Given the description of an element on the screen output the (x, y) to click on. 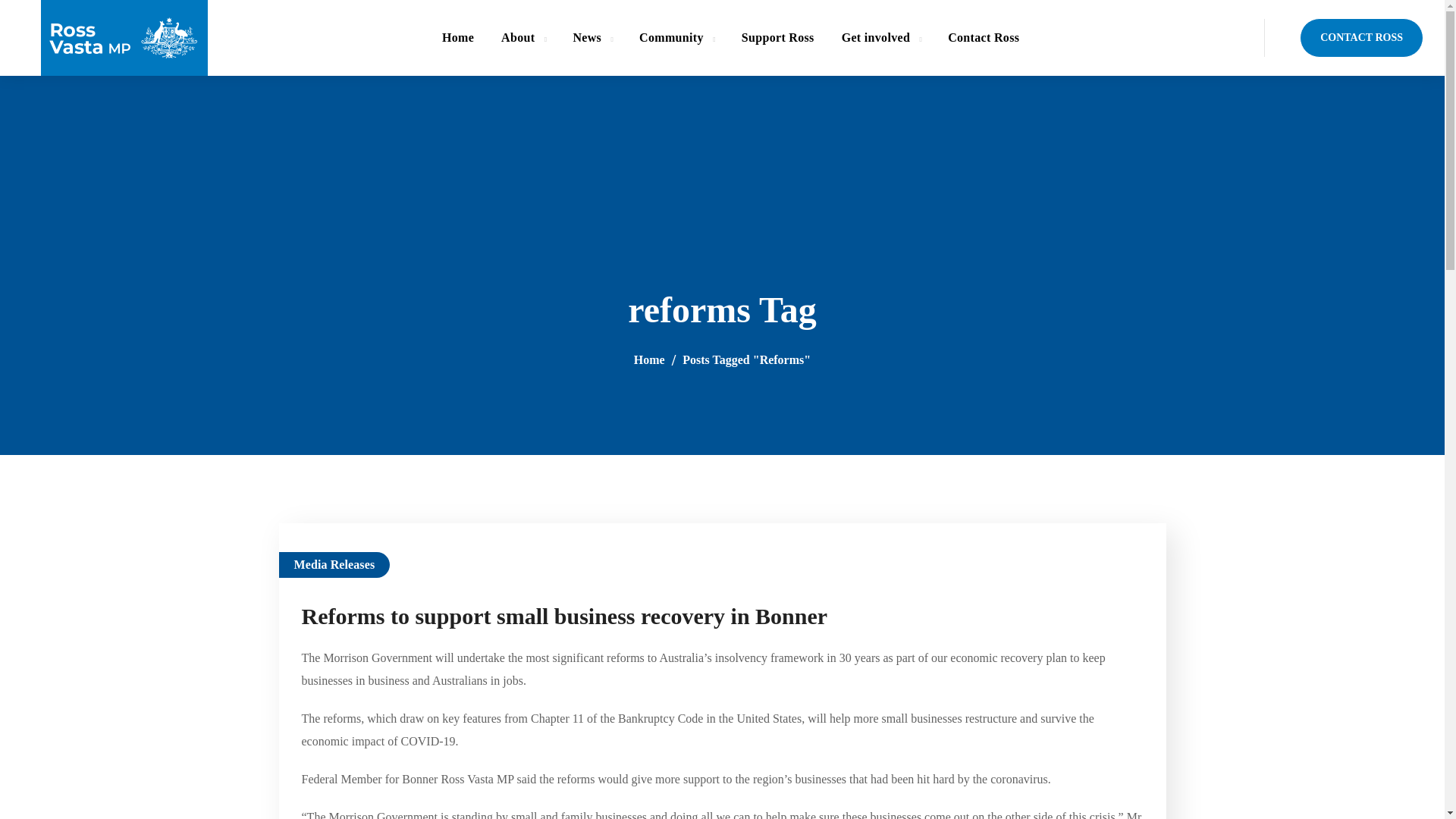
Contact Ross (983, 38)
CONTACT ROSS (1361, 37)
Community (677, 38)
About (523, 38)
Get involved (881, 38)
Support Ross (778, 38)
